Given the description of an element on the screen output the (x, y) to click on. 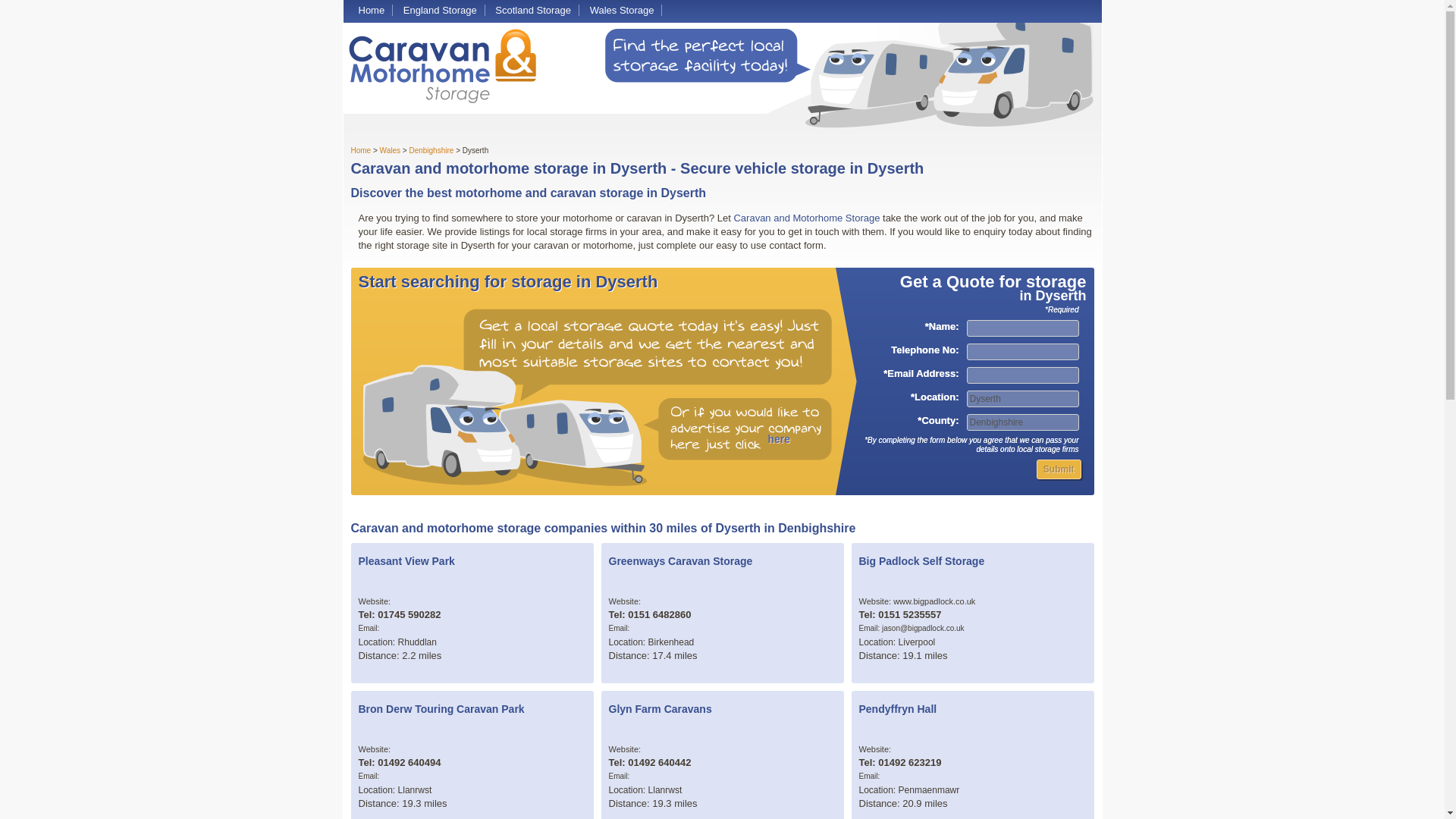
Home (360, 150)
Submit (1058, 469)
Submit (1058, 469)
Wales Storage (621, 9)
Home (371, 9)
Wales (390, 150)
Denbighshire (430, 150)
Dyserth (1022, 398)
Scotland Storage (532, 9)
England Storage (440, 9)
Denbighshire (1022, 422)
here (778, 439)
